Given the description of an element on the screen output the (x, y) to click on. 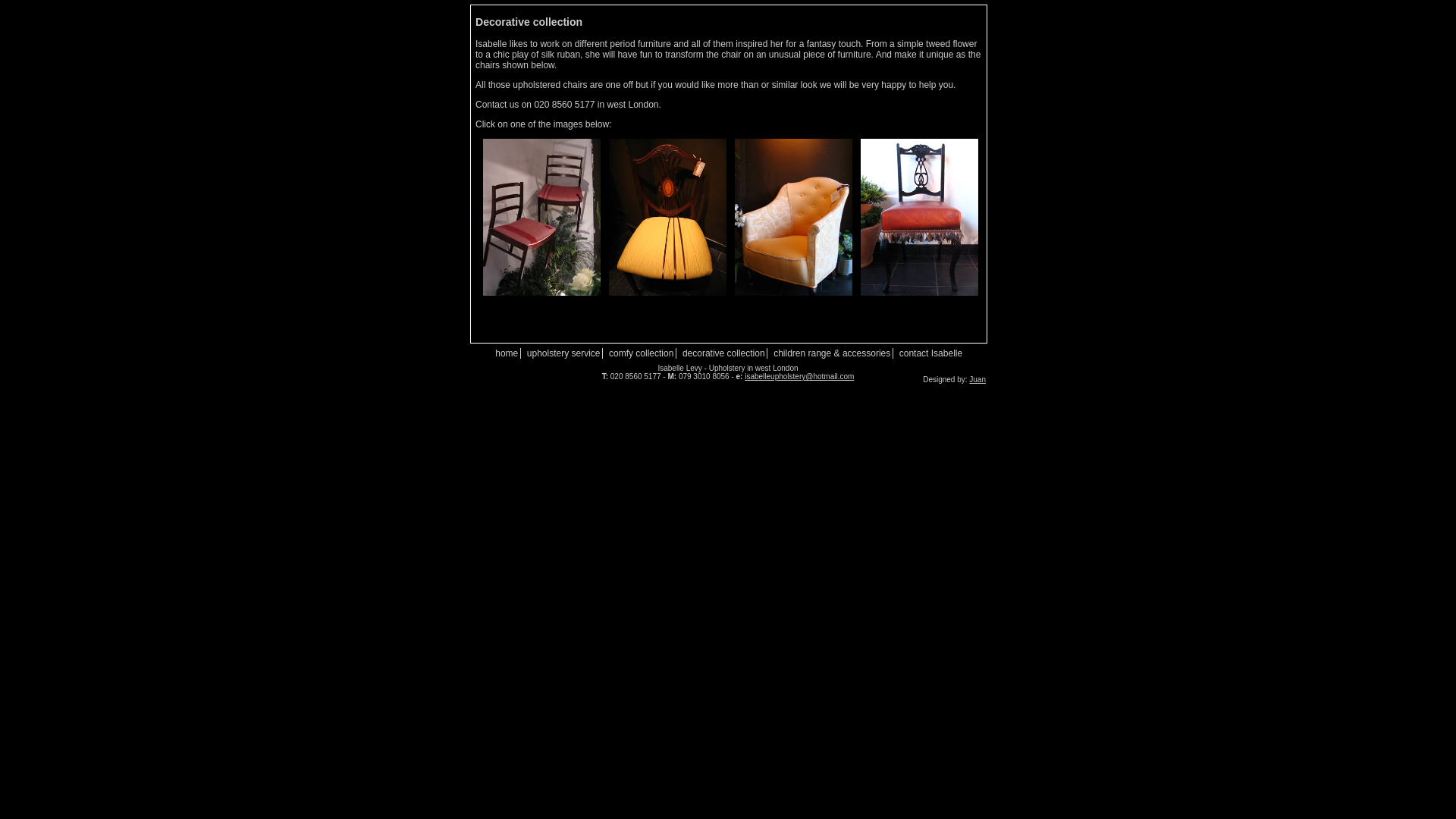
Juan (977, 379)
comfy collection (640, 353)
home (506, 353)
upholstery service (563, 353)
contact Isabelle (930, 353)
decorative collection (723, 353)
